Given the description of an element on the screen output the (x, y) to click on. 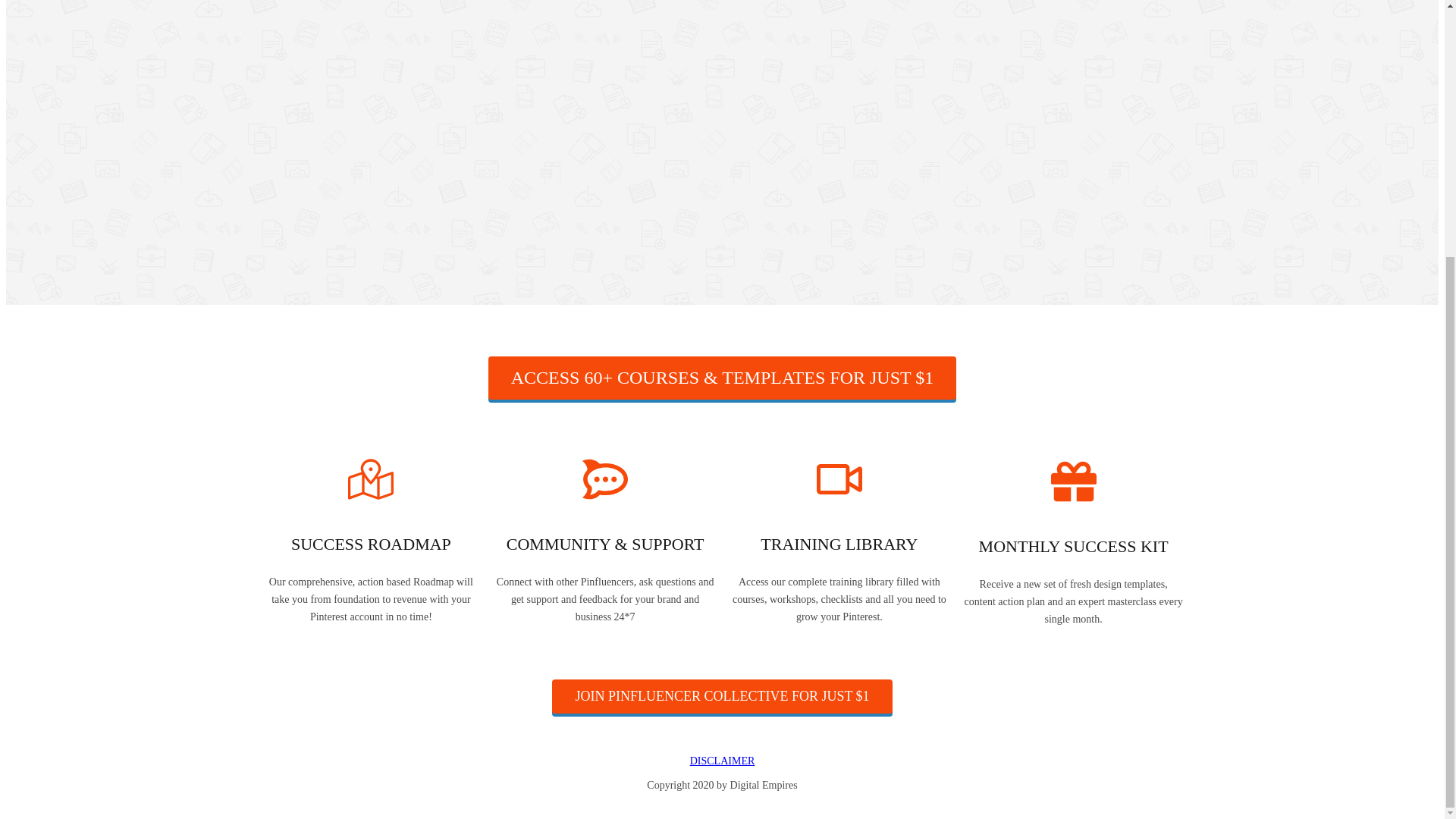
DISCLAIMER (722, 759)
